Given the description of an element on the screen output the (x, y) to click on. 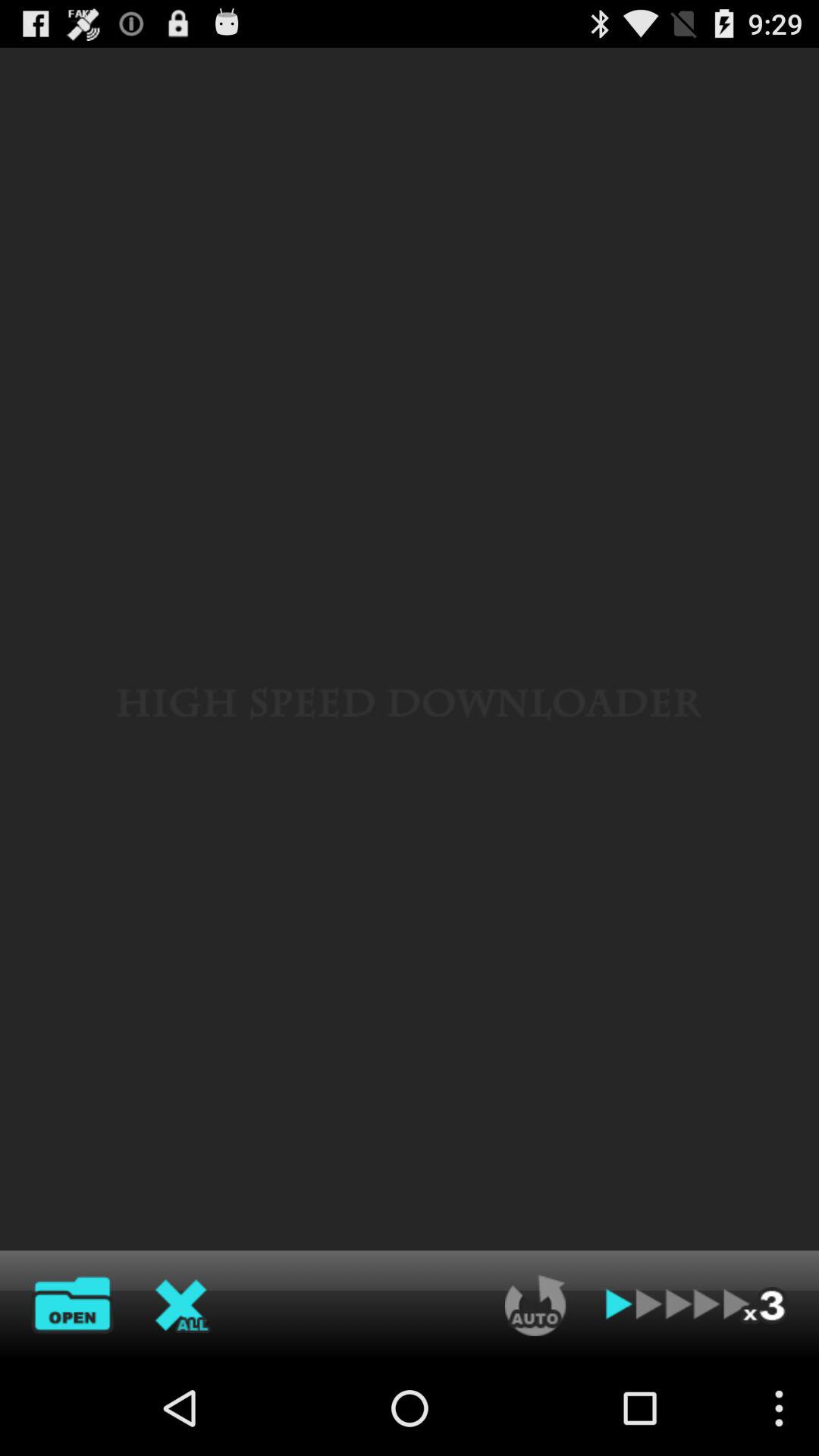
auto refresh (535, 1305)
